Given the description of an element on the screen output the (x, y) to click on. 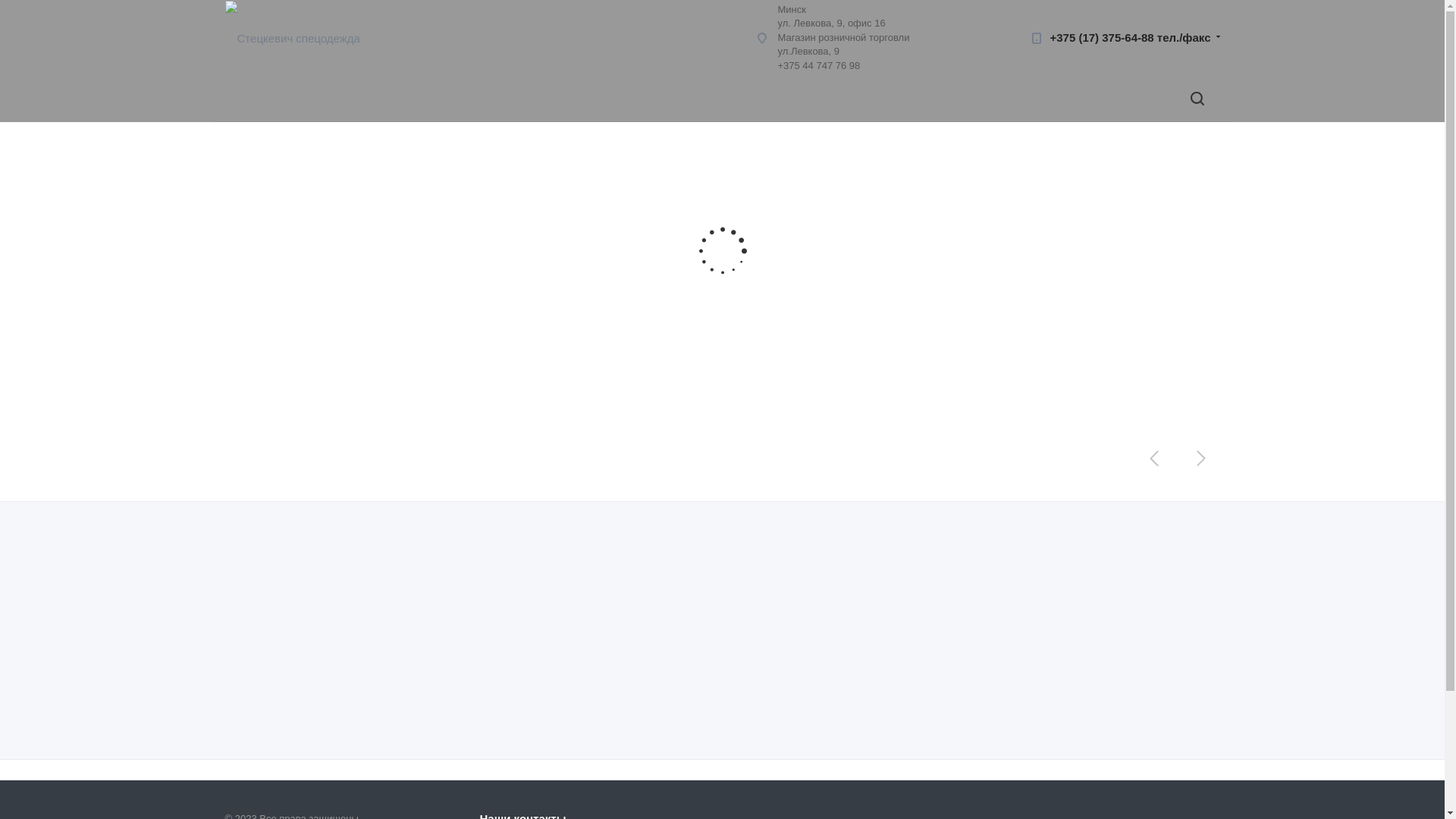
Prev Element type: text (1154, 457)
Next Element type: text (1200, 457)
